Given the description of an element on the screen output the (x, y) to click on. 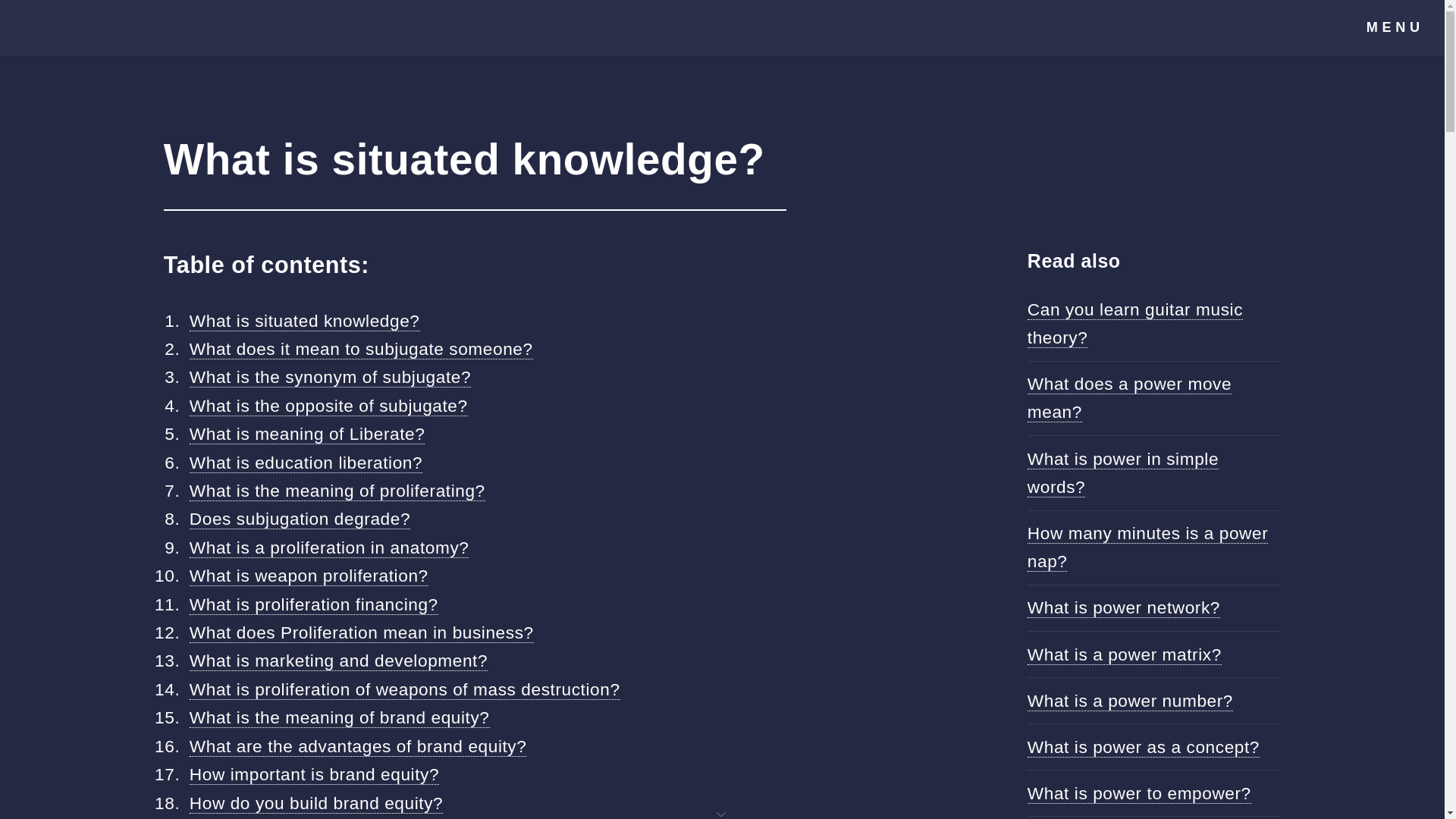
What is the synonym of subjugate? (329, 376)
What is the opposite of subjugate? (328, 405)
What is proliferation of weapons of mass destruction? (404, 689)
What is the meaning of proliferating? (336, 490)
Ad.Plus Advertising (722, 813)
What is a power matrix? (1124, 654)
What is marketing and development? (338, 660)
Can you learn guitar music theory? (1135, 323)
What is education liberation? (305, 462)
What is weapon proliferation? (308, 575)
